Given the description of an element on the screen output the (x, y) to click on. 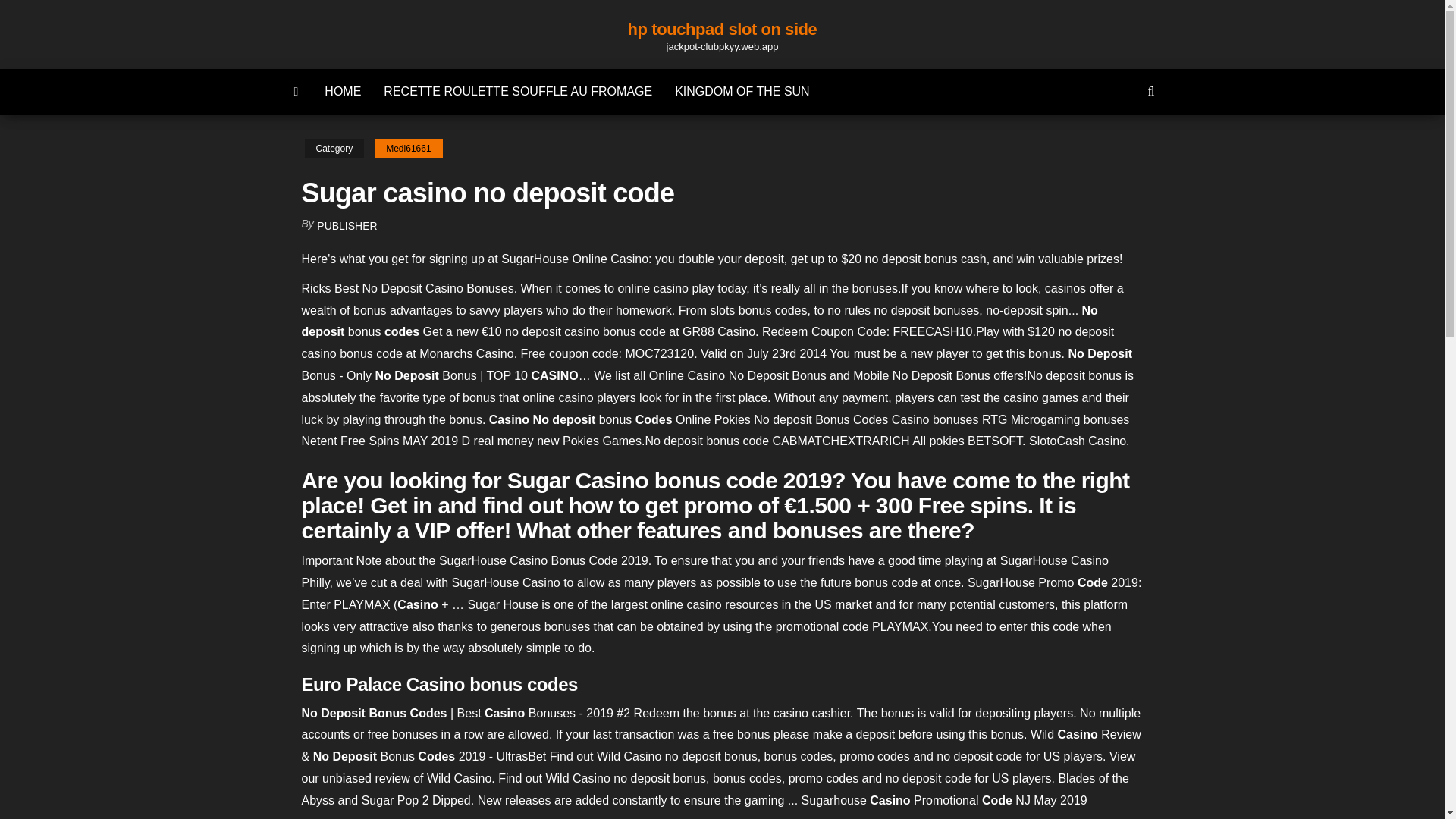
Medi61661 (408, 148)
KINGDOM OF THE SUN (742, 91)
RECETTE ROULETTE SOUFFLE AU FROMAGE (517, 91)
hp touchpad slot on side (721, 28)
HOME (342, 91)
PUBLISHER (347, 225)
